Given the description of an element on the screen output the (x, y) to click on. 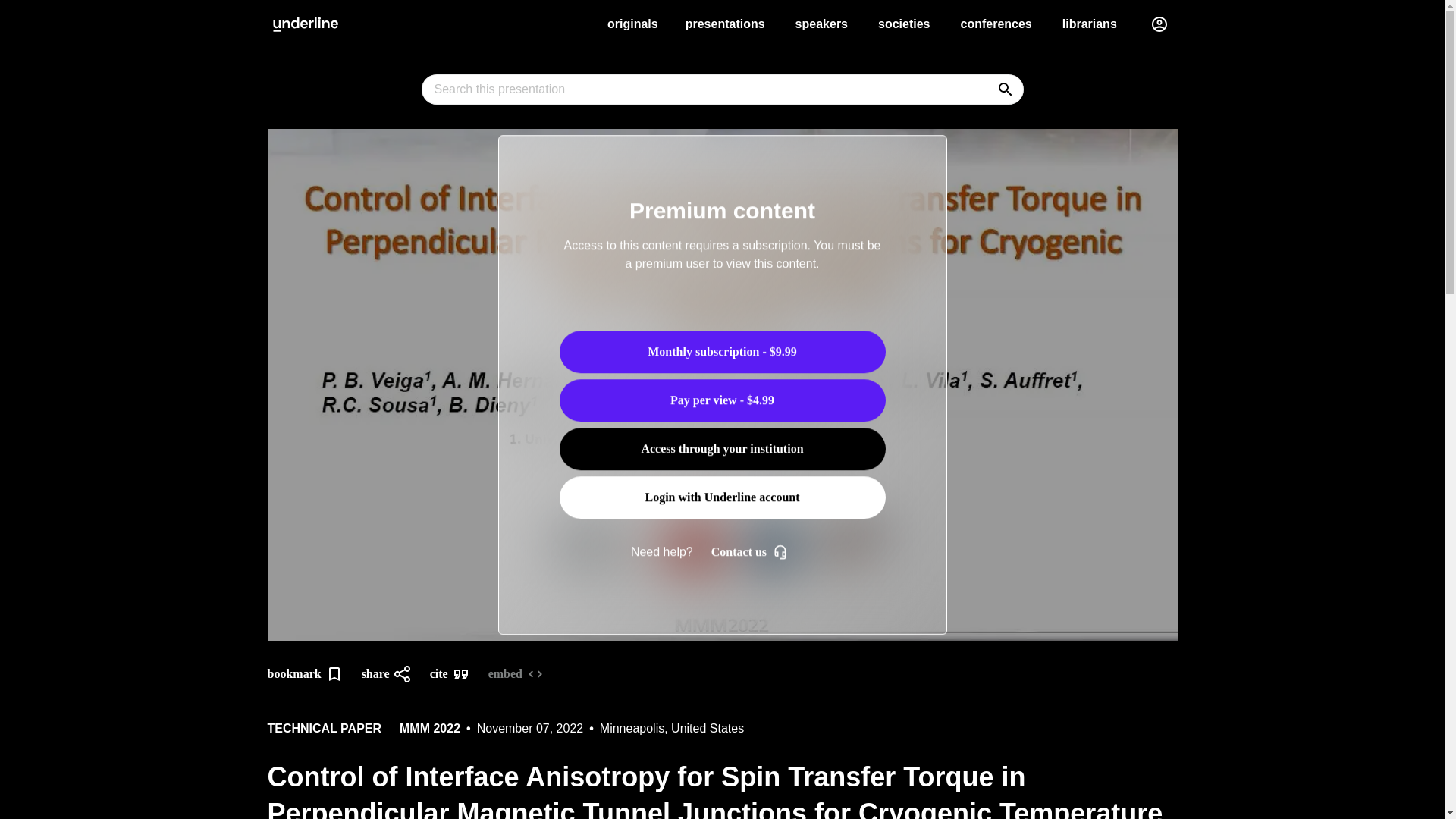
share (395, 673)
societies (903, 23)
librarians (1089, 23)
cite (458, 673)
speakers (821, 23)
MMM 2022 (429, 728)
Access through your institution (722, 448)
originals (632, 24)
Contact us (753, 551)
presentations (724, 23)
bookmark (313, 673)
embed (524, 673)
Login with Underline account (722, 496)
